Given the description of an element on the screen output the (x, y) to click on. 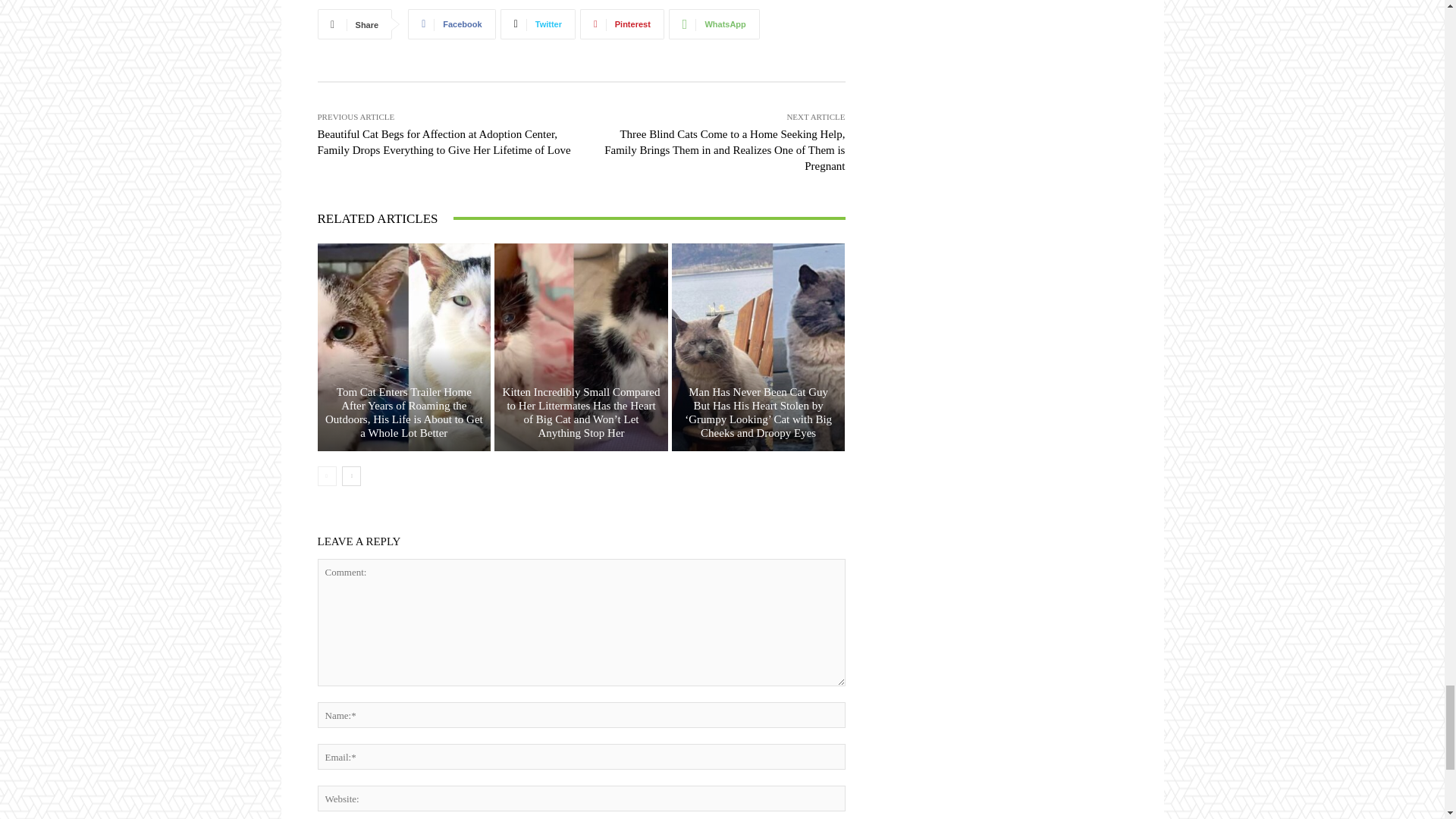
Facebook (451, 24)
